Given the description of an element on the screen output the (x, y) to click on. 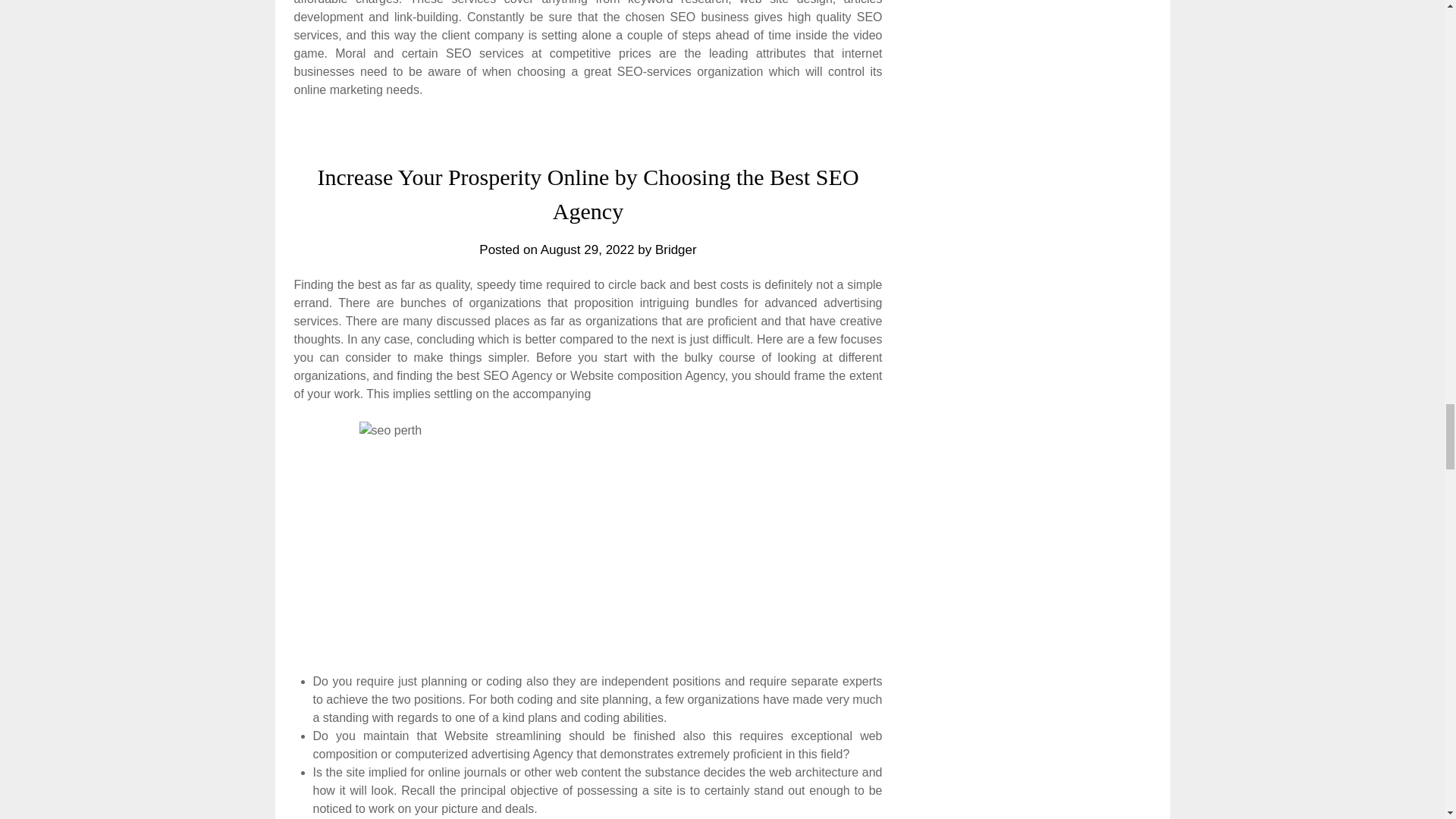
Bridger (676, 249)
August 29, 2022 (587, 249)
